Given the description of an element on the screen output the (x, y) to click on. 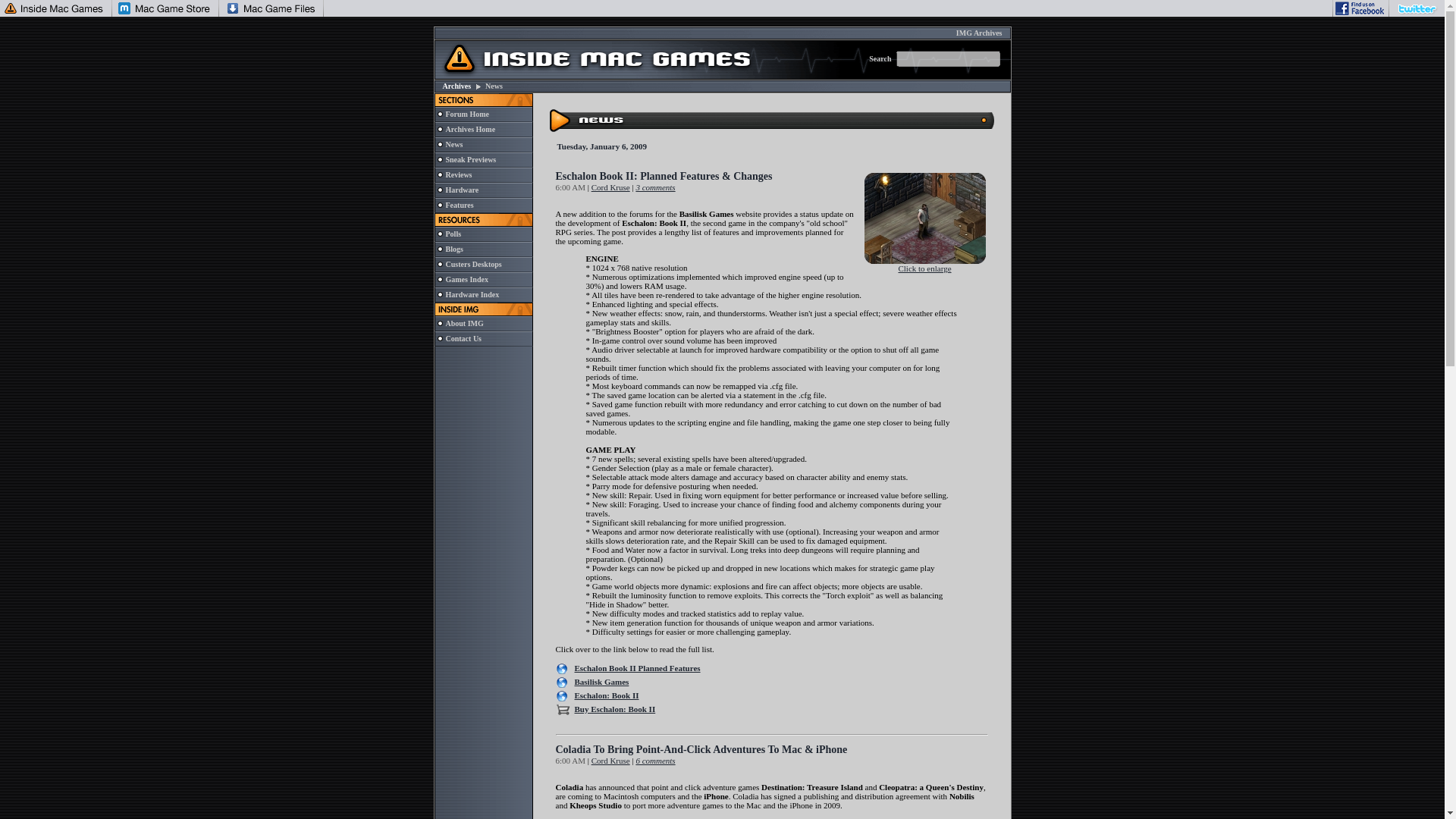
Custers Desktops (473, 264)
Polls (453, 234)
Reviews (458, 174)
Sneak Previews (470, 159)
About IMG (464, 323)
Forum Home (467, 113)
Cord Kruse (610, 759)
Eschalon Book II Planned Features (637, 667)
3 comments (654, 186)
Archives Home (470, 129)
Hardware Index (472, 294)
Cord Kruse (610, 186)
News (454, 144)
Archives (456, 85)
Contact Us (463, 338)
